Given the description of an element on the screen output the (x, y) to click on. 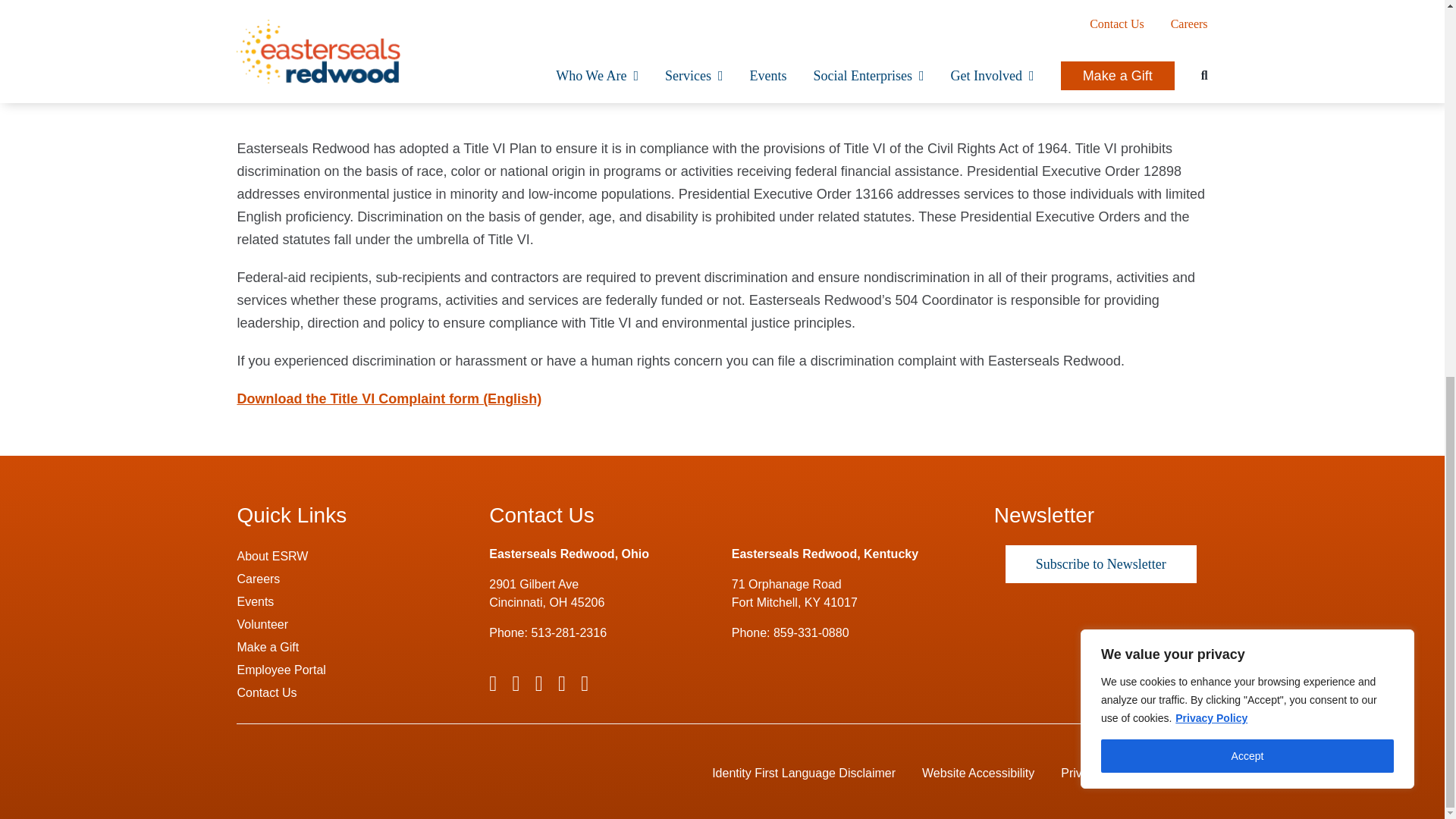
Privacy Policy (1210, 24)
Accept (1246, 61)
